Given the description of an element on the screen output the (x, y) to click on. 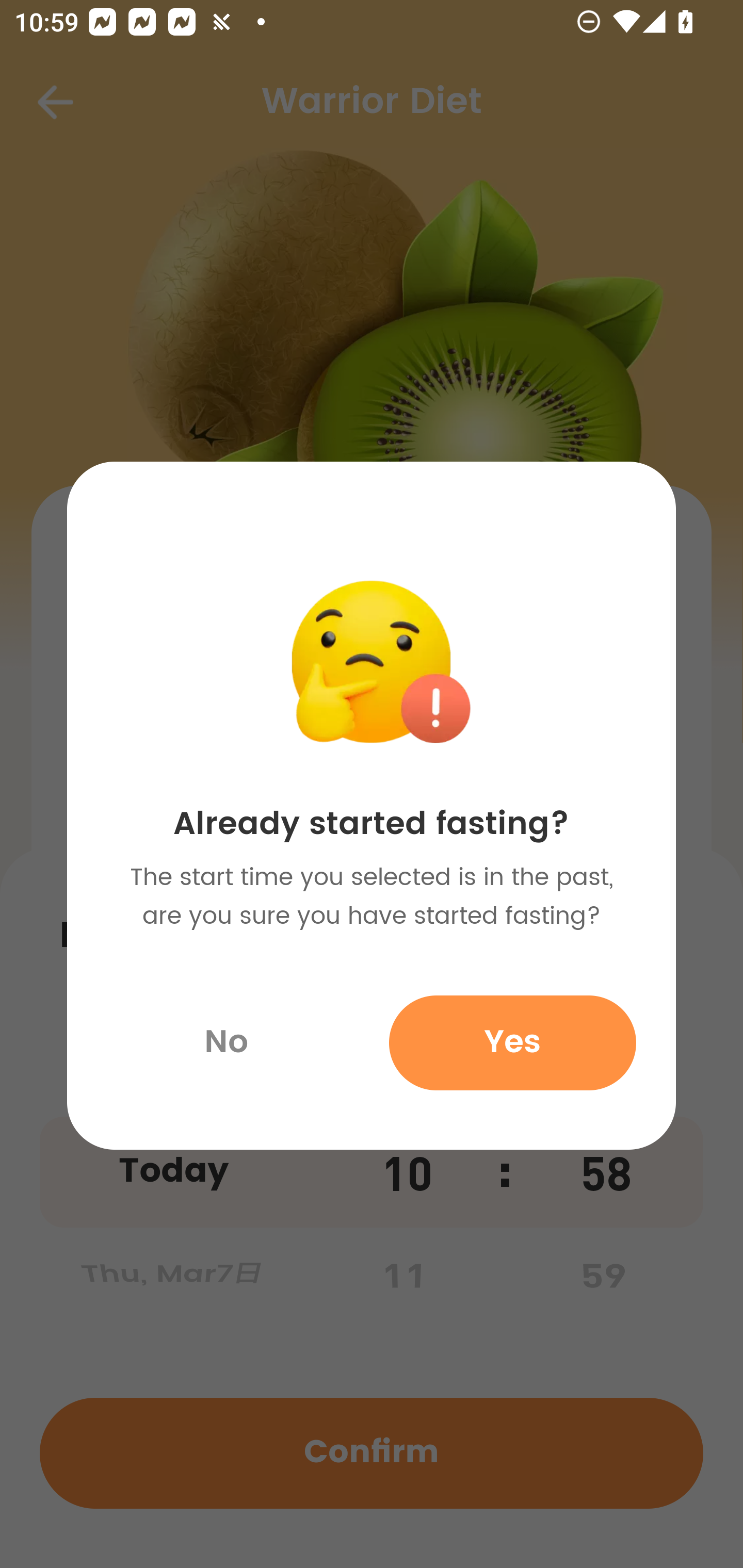
No (225, 1042)
Yes (512, 1042)
